Given the description of an element on the screen output the (x, y) to click on. 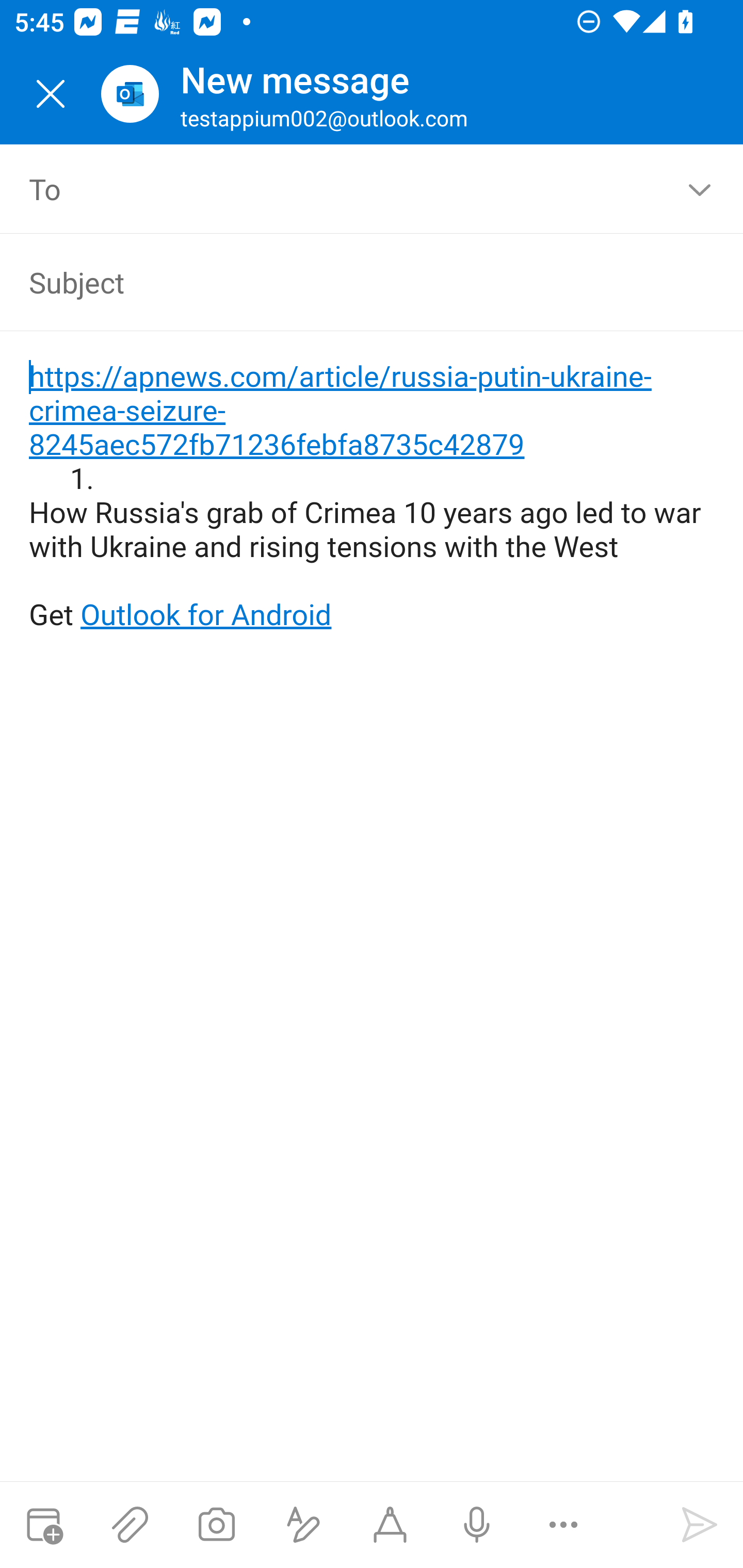
Close (50, 93)
Subject (342, 281)
Attach meeting (43, 1524)
Attach files (129, 1524)
Take a photo (216, 1524)
Show formatting options (303, 1524)
Start Ink compose (389, 1524)
Dictation (476, 1524)
More options (563, 1524)
Send (699, 1524)
